Given the description of an element on the screen output the (x, y) to click on. 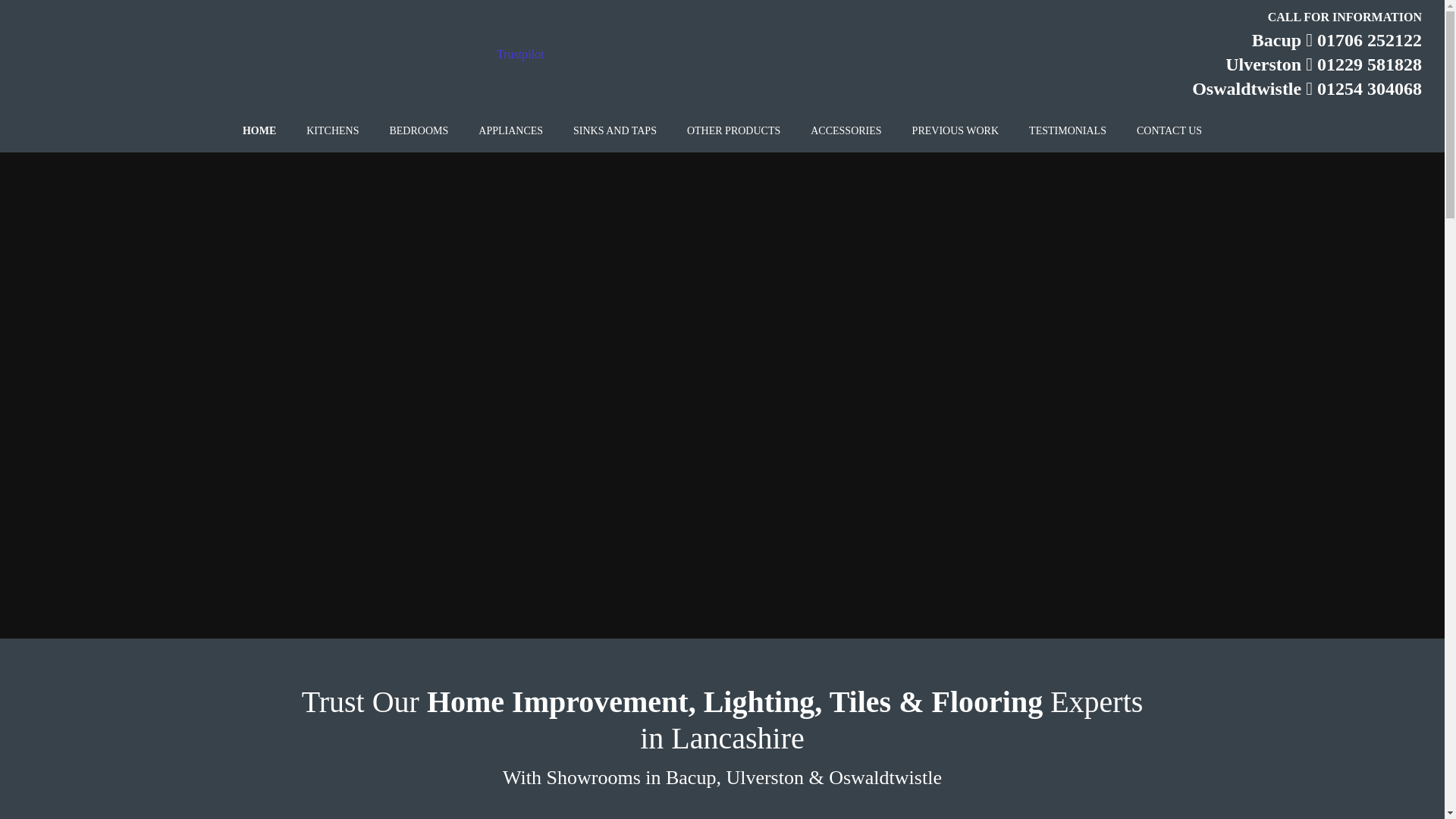
TESTIMONIALS (1067, 131)
HOME (259, 131)
ACCESSORIES (845, 131)
PREVIOUS WORK (954, 131)
Trustpilot (520, 53)
OTHER PRODUCTS (732, 131)
CONTACT US (1169, 131)
BEDROOMS (418, 131)
SINKS AND TAPS (614, 131)
KITCHENS (332, 131)
